Given the description of an element on the screen output the (x, y) to click on. 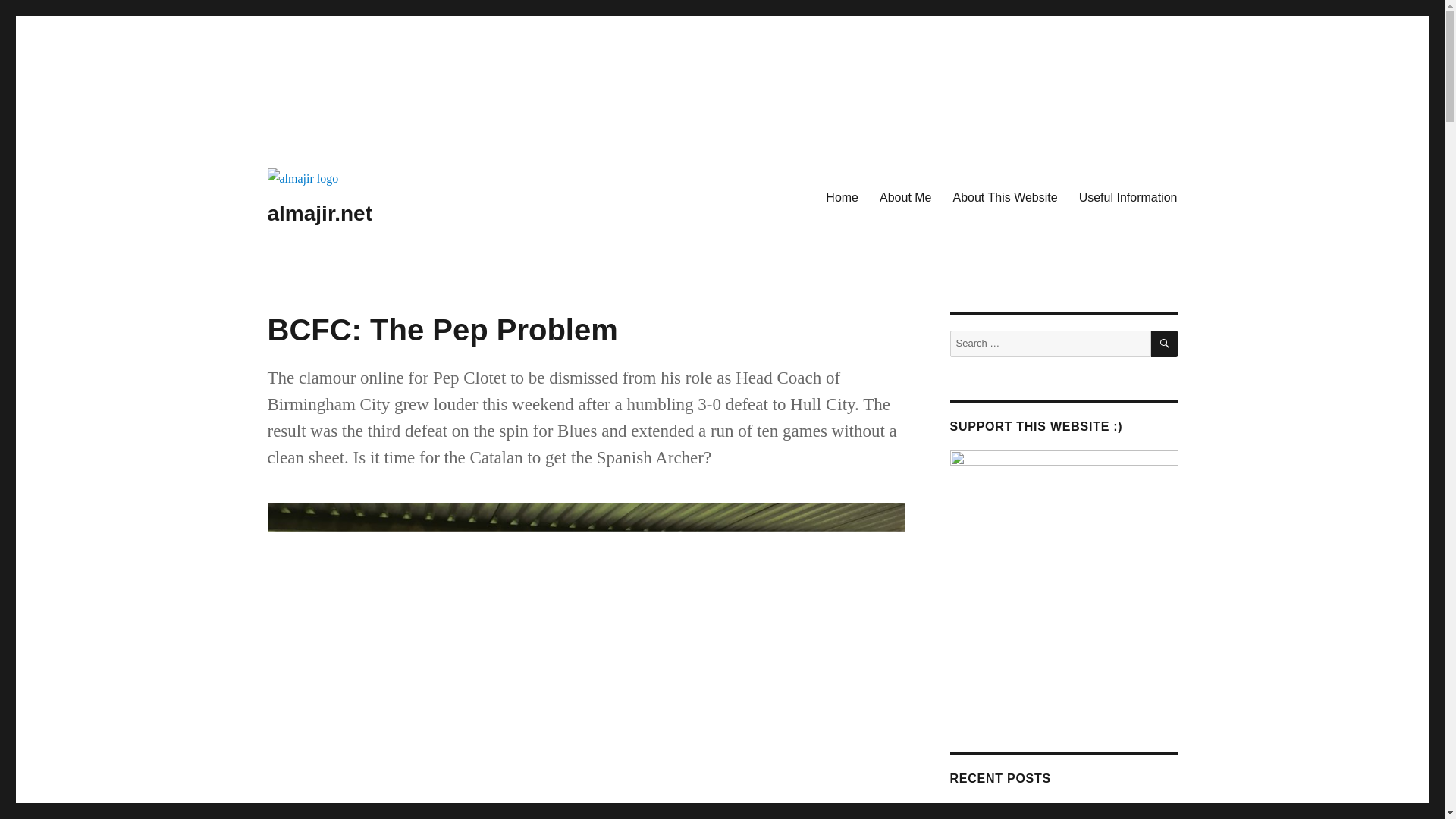
Useful Information (1128, 196)
Home (842, 196)
almajir.net (319, 213)
About Me (905, 196)
About This Website (1004, 196)
